Given the description of an element on the screen output the (x, y) to click on. 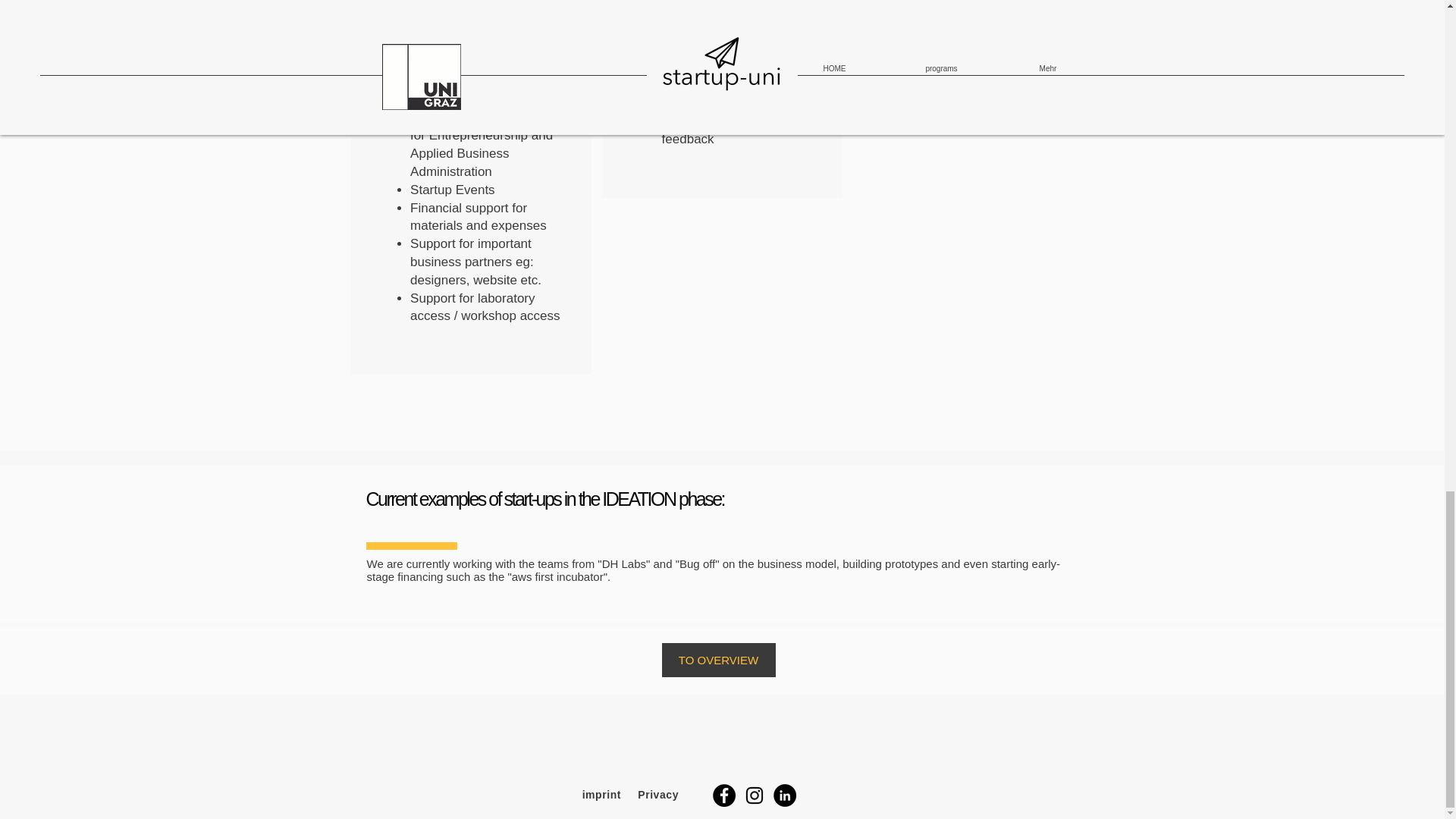
Privacy  (659, 794)
imprint (601, 794)
TO OVERVIEW (717, 659)
